Given the description of an element on the screen output the (x, y) to click on. 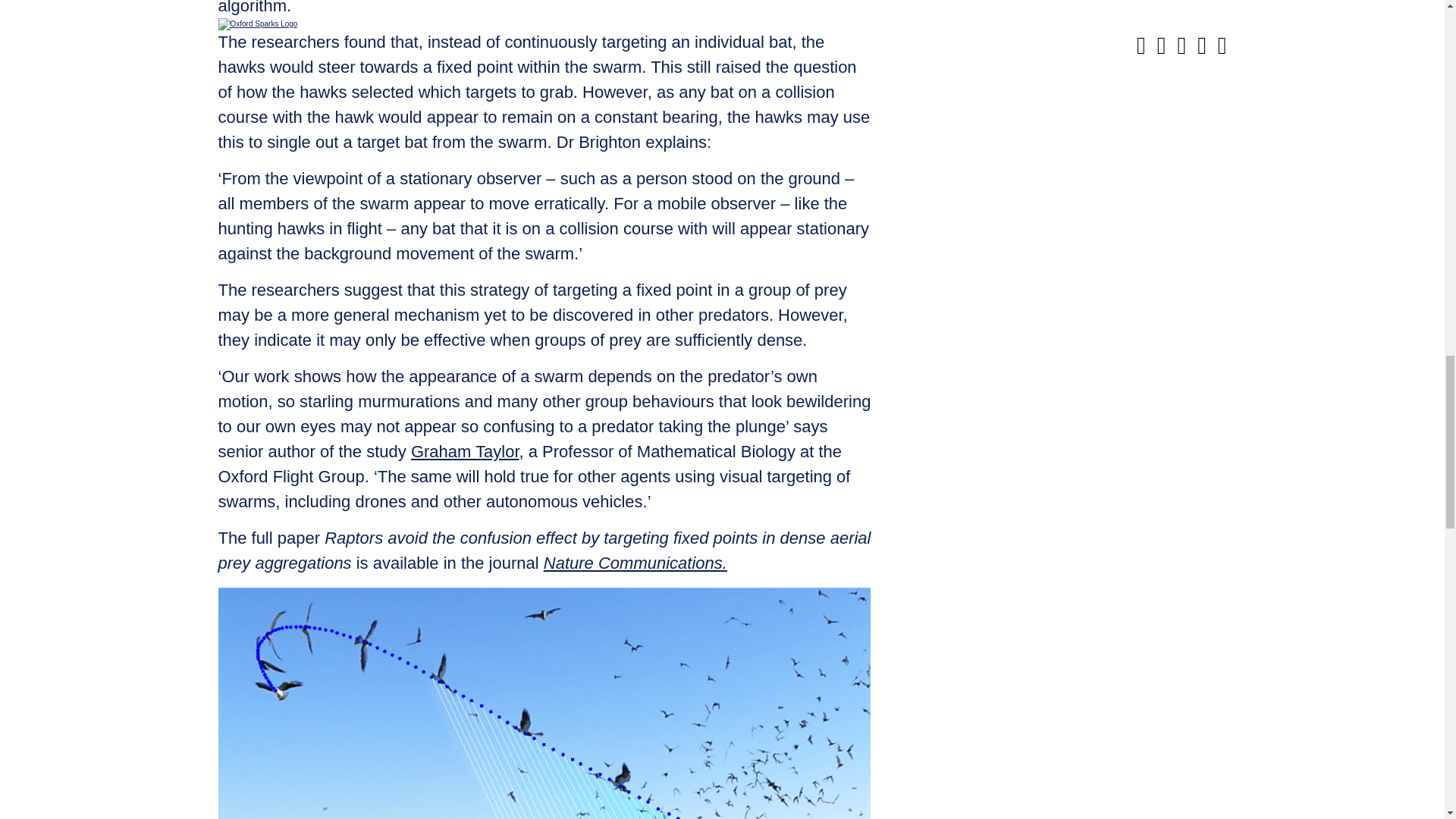
Graham Taylor (464, 451)
Nature Communications. (634, 562)
